Given the description of an element on the screen output the (x, y) to click on. 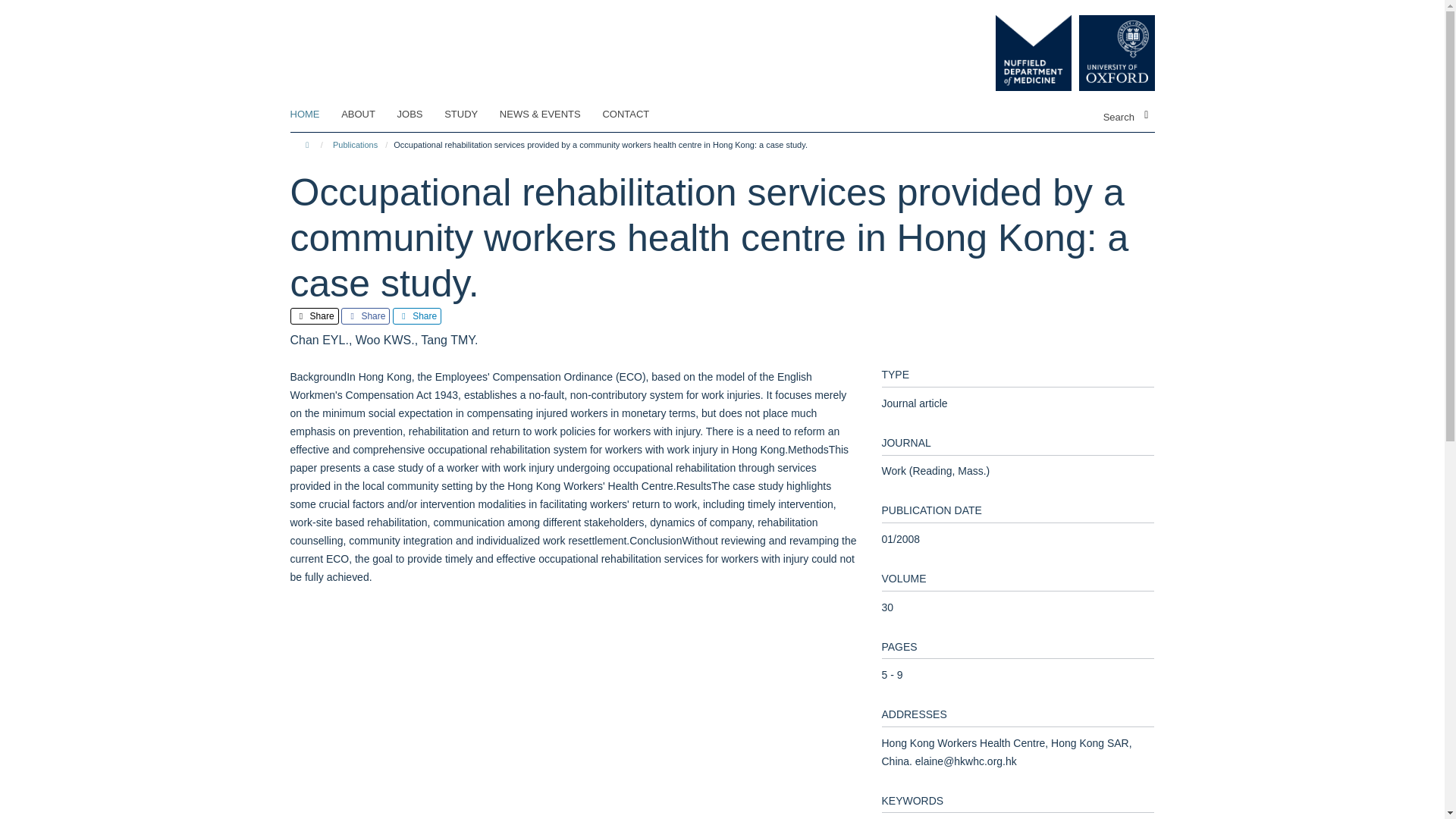
Share (417, 315)
CONTACT (635, 114)
Share (313, 315)
STUDY (470, 114)
HOME (313, 114)
Publications (355, 144)
ABOUT (367, 114)
NDM University of Oxford (1063, 52)
Share (365, 315)
JOBS (419, 114)
